Given the description of an element on the screen output the (x, y) to click on. 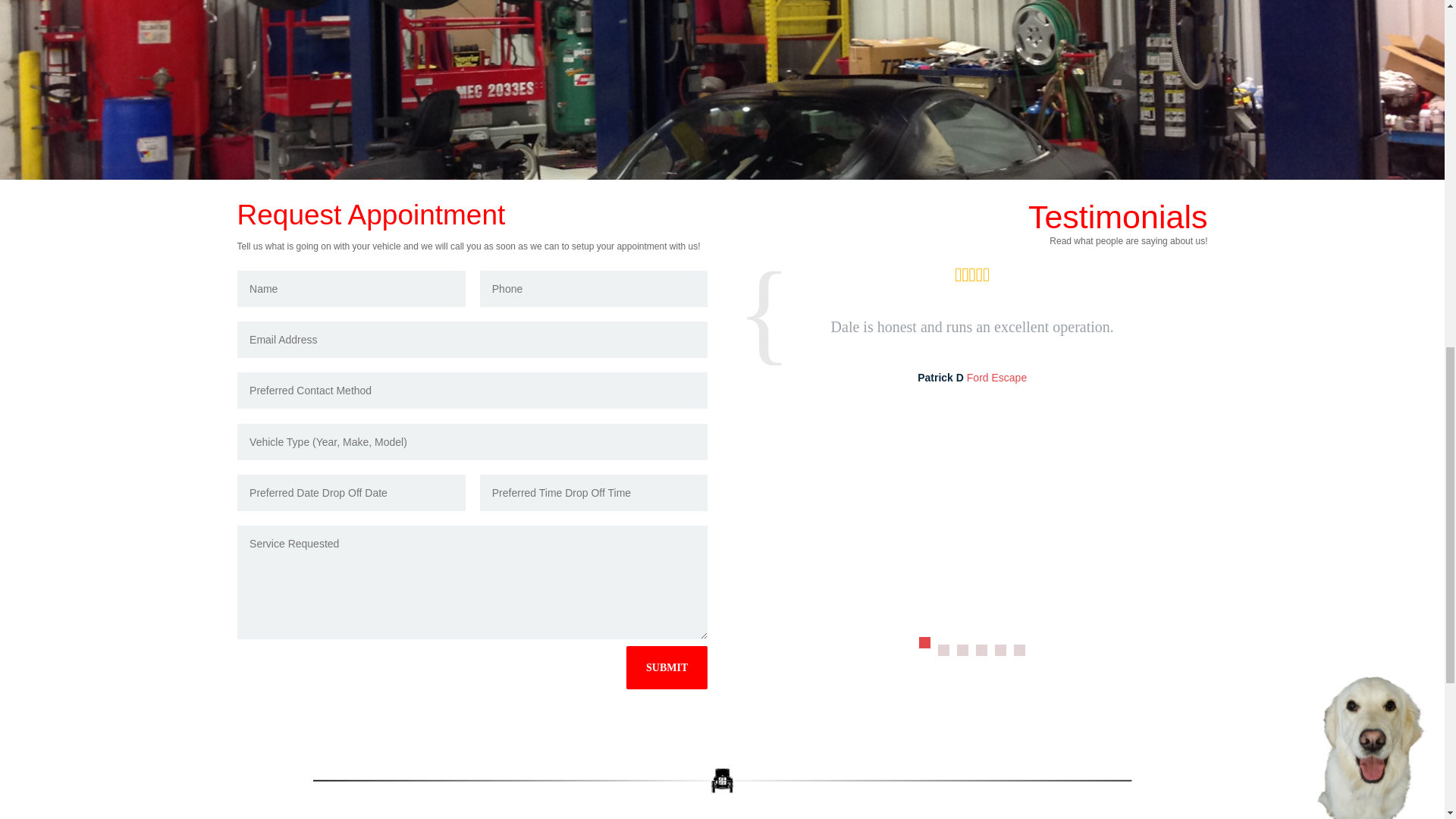
hr (722, 780)
SUBMIT (666, 667)
